Given the description of an element on the screen output the (x, y) to click on. 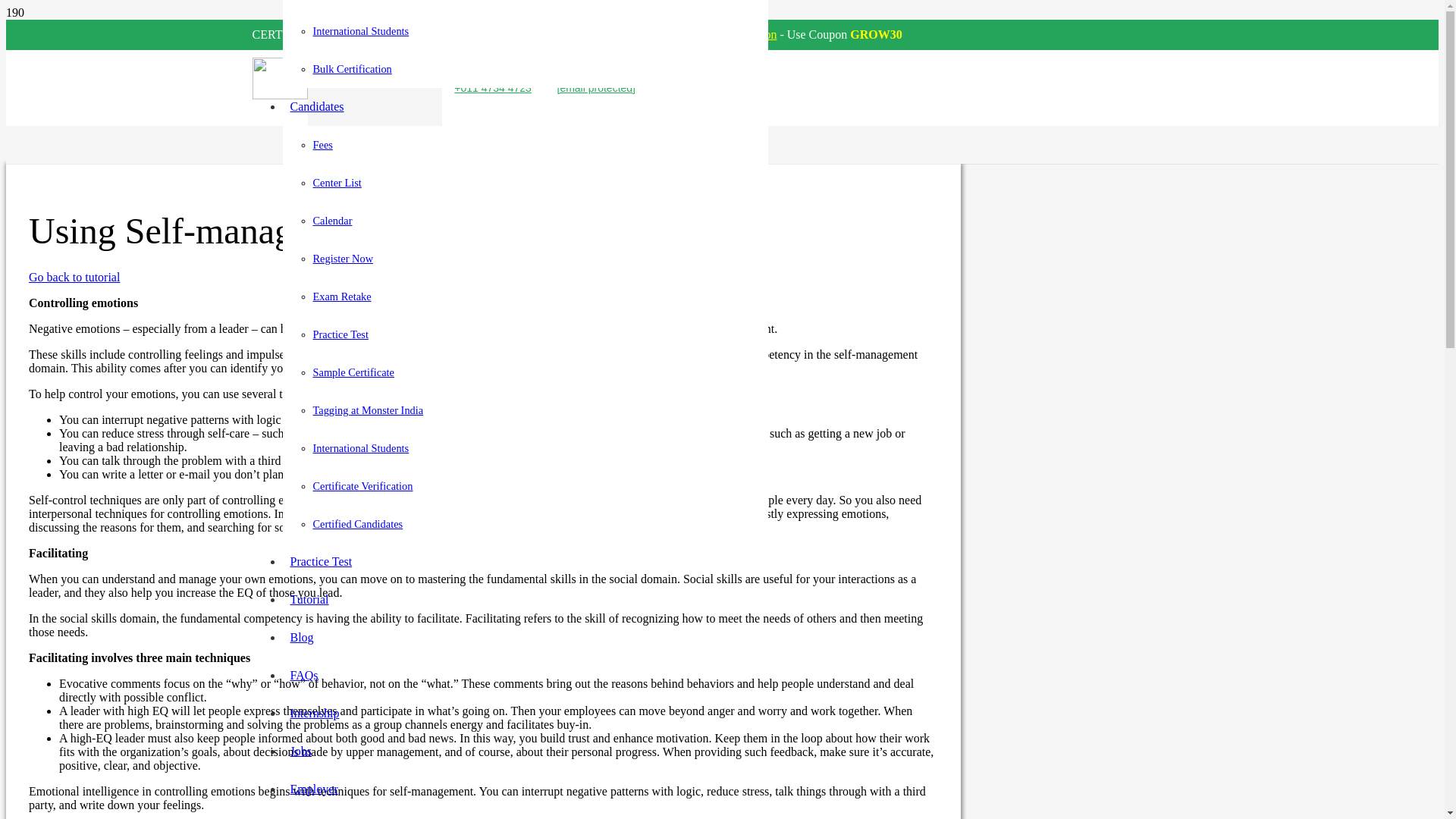
International Students (361, 30)
Certificate Verification (362, 485)
Exam Retake (342, 296)
Candidates (316, 106)
Calendar (332, 220)
Center List (337, 182)
Register Now (342, 258)
Practice Test (320, 561)
Bulk Certification (352, 69)
International Students (361, 448)
Practice Test (340, 334)
Tagging at Monster India (368, 410)
Selenium Certification (721, 33)
Sample Certificate (353, 372)
Tutorial (309, 599)
